Given the description of an element on the screen output the (x, y) to click on. 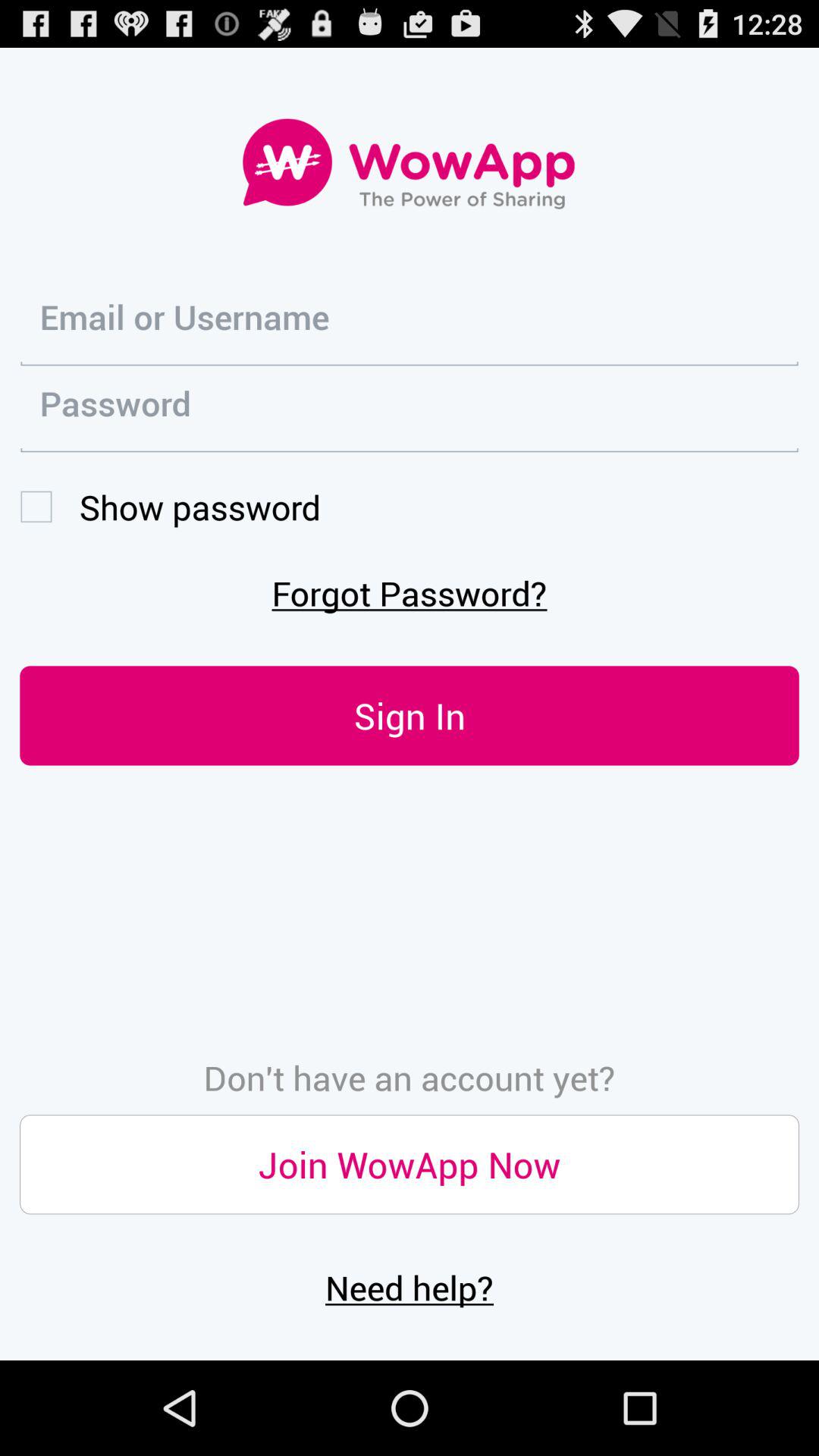
open the icon above the sign in icon (409, 592)
